Given the description of an element on the screen output the (x, y) to click on. 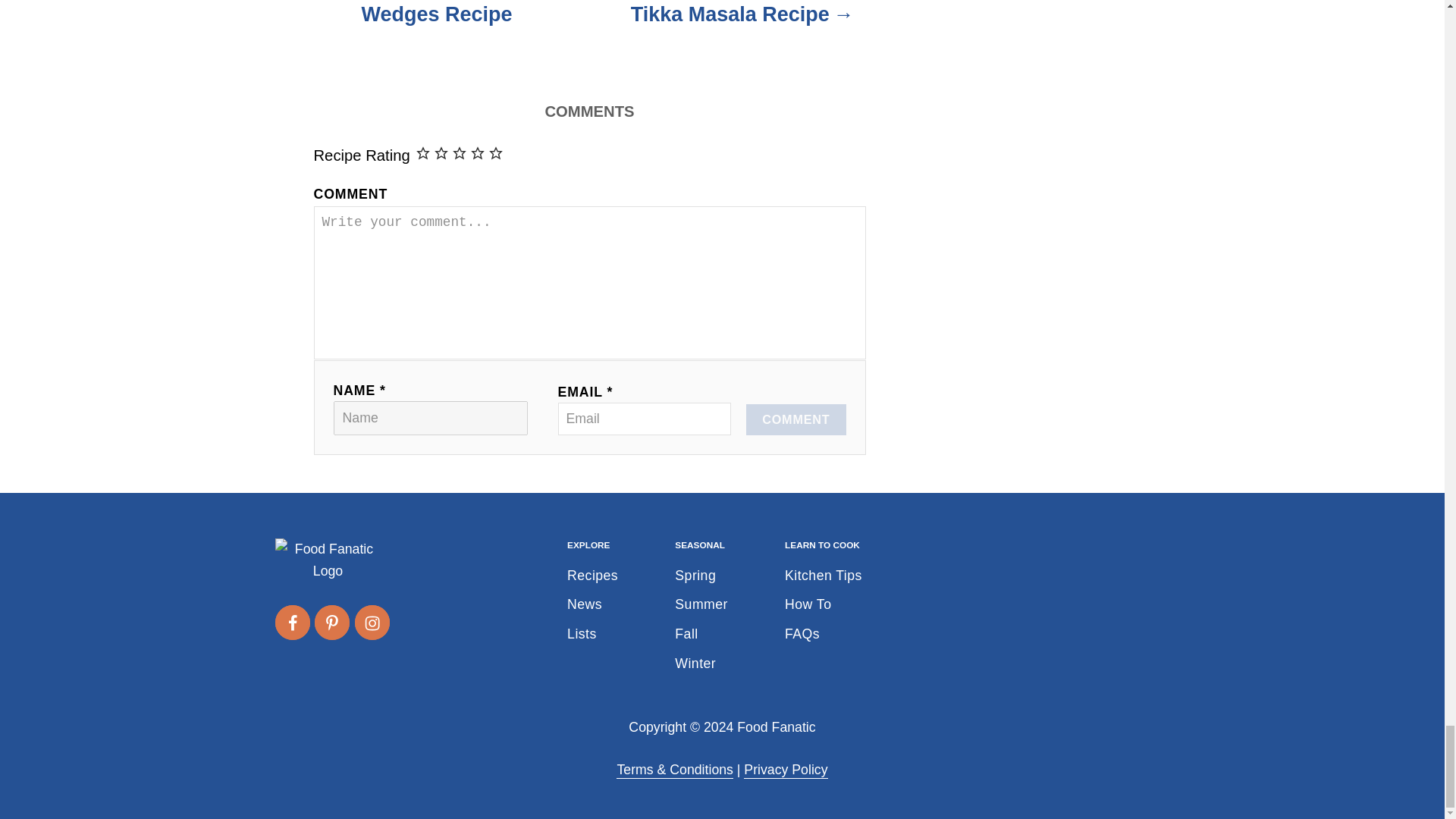
Follow on Pinterest (331, 622)
Follow on Instagram (372, 622)
Follow on Facebook (291, 622)
